Given the description of an element on the screen output the (x, y) to click on. 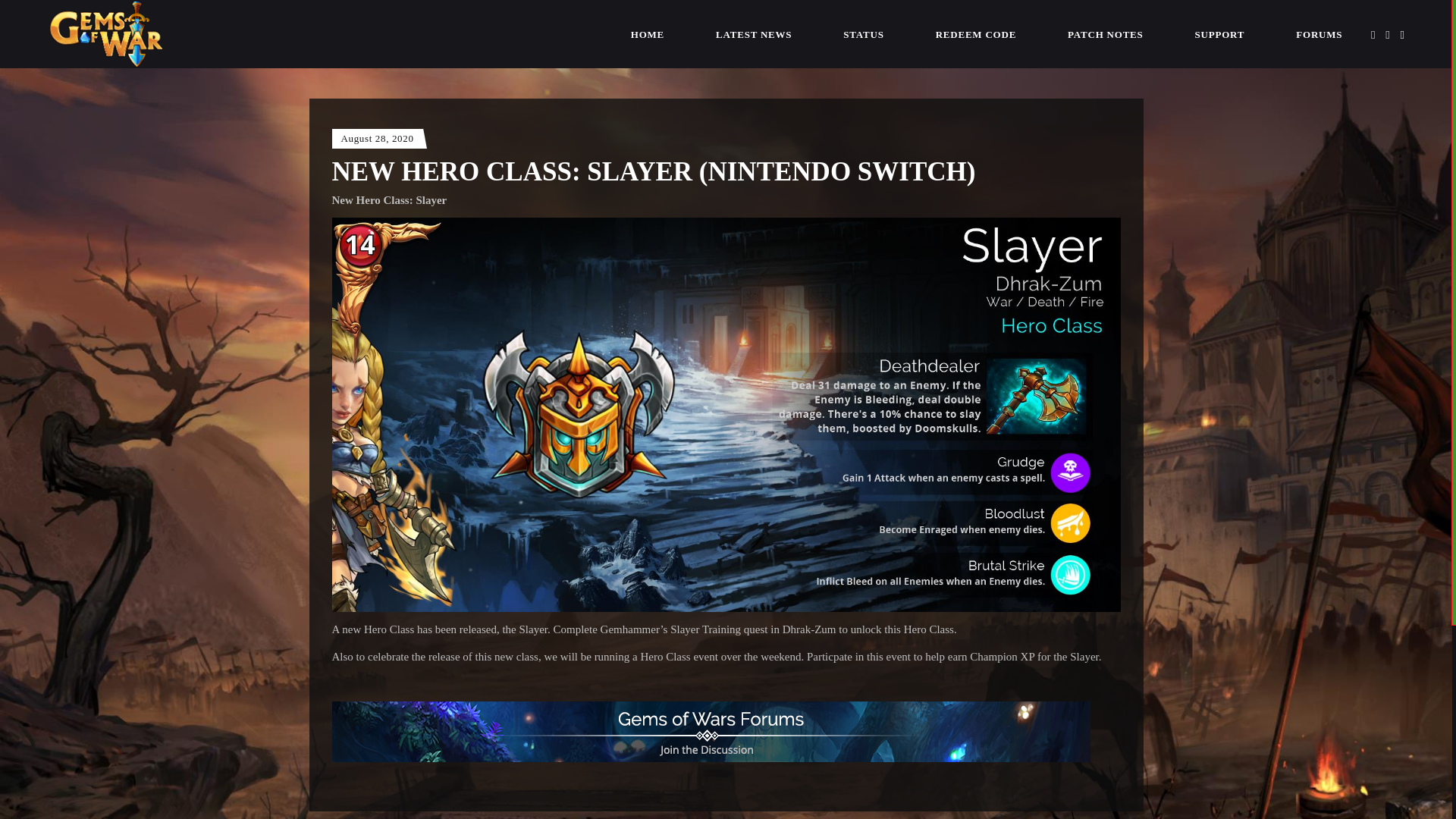
REDEEM CODE (975, 33)
FORUMS (1318, 33)
STATUS (863, 33)
SUPPORT (1220, 33)
August 28, 2020 (376, 138)
LATEST NEWS (753, 33)
HOME (647, 33)
PATCH NOTES (1105, 33)
